Given the description of an element on the screen output the (x, y) to click on. 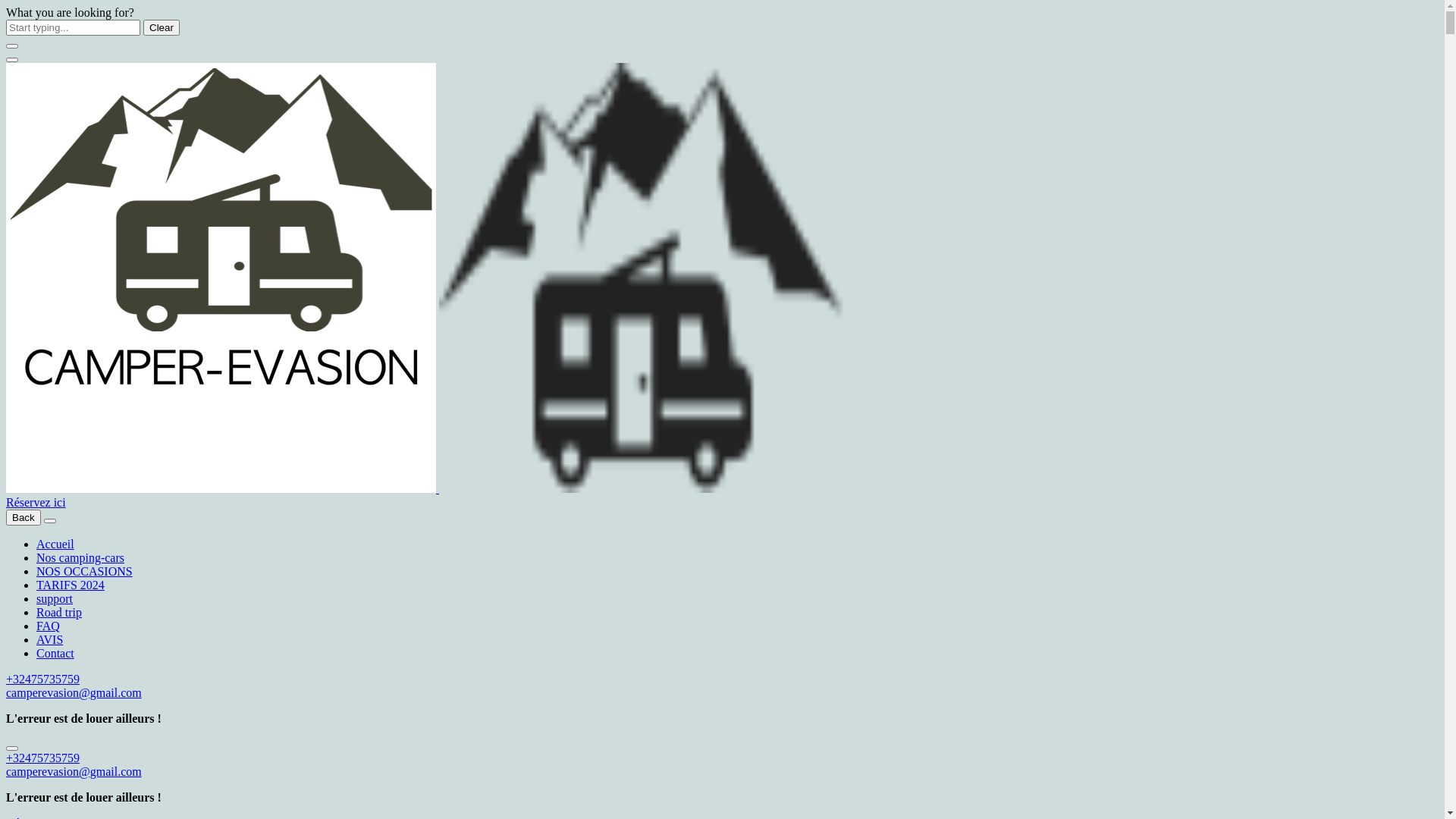
Back Element type: text (23, 517)
camperevasion@gmail.com Element type: text (73, 692)
support Element type: text (54, 598)
AVIS Element type: text (49, 639)
Road trip Element type: text (58, 611)
Accueil Element type: text (55, 543)
+32475735759 Element type: text (42, 757)
Contact Element type: text (55, 652)
NOS OCCASIONS Element type: text (84, 570)
FAQ Element type: text (47, 625)
+32475735759 Element type: text (42, 678)
camperevasion@gmail.com Element type: text (73, 771)
Clear Element type: text (161, 27)
TARIFS 2024 Element type: text (70, 584)
Nos camping-cars Element type: text (80, 557)
